Given the description of an element on the screen output the (x, y) to click on. 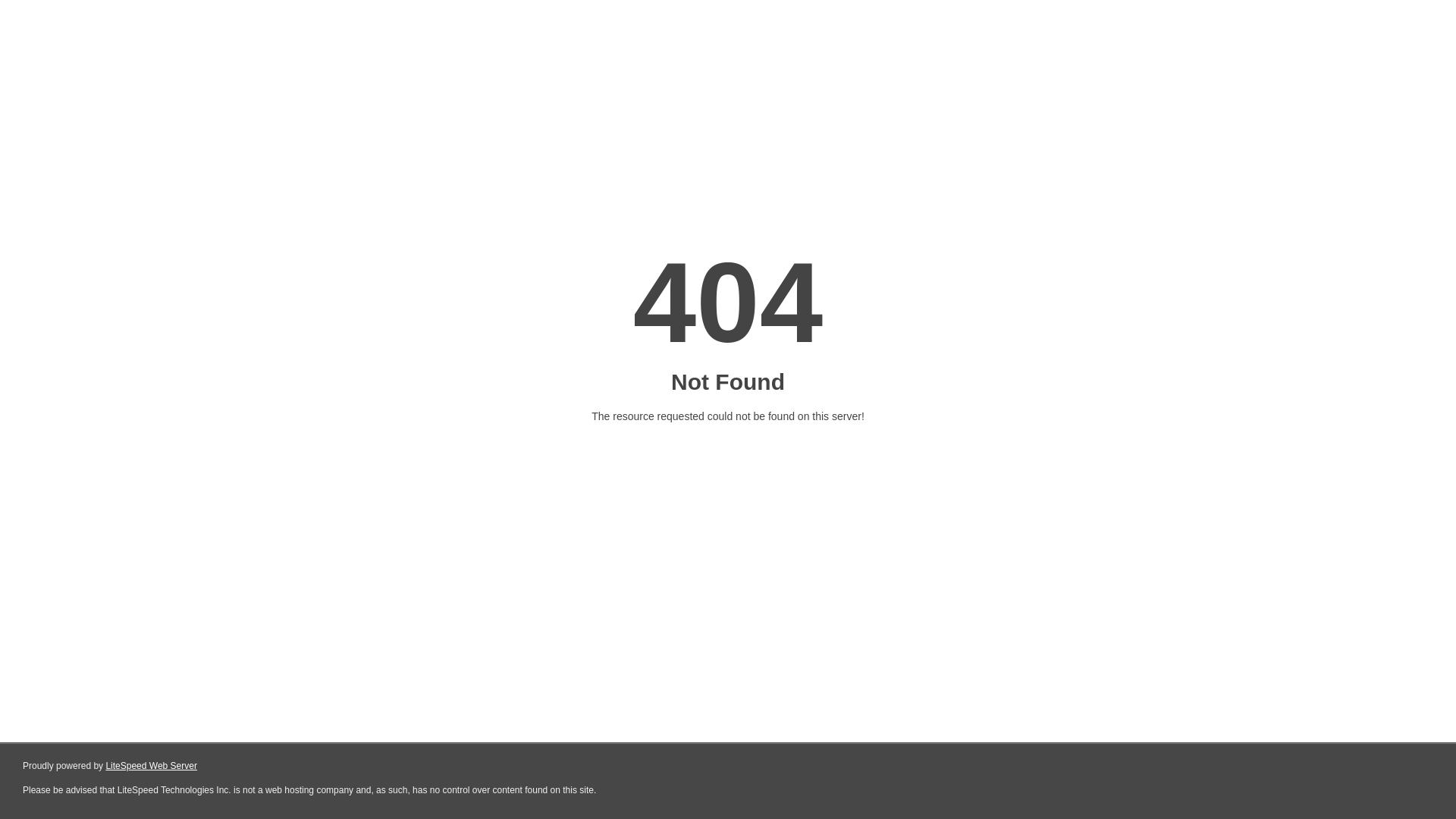
LiteSpeed Web Server Element type: text (151, 765)
